Given the description of an element on the screen output the (x, y) to click on. 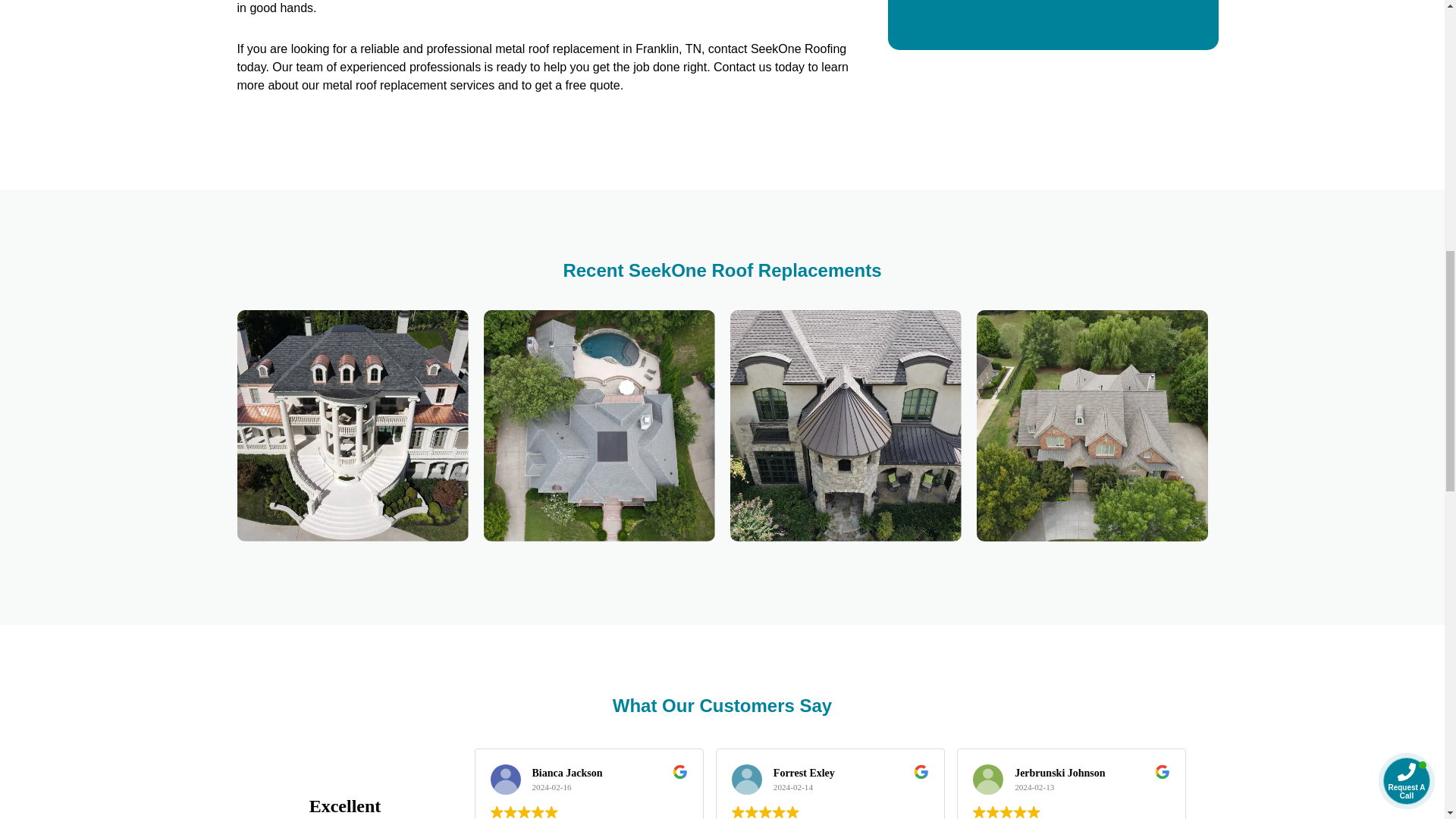
0A6FFC58-7922-44B7-8A34-1F56543E36F9 (844, 425)
default (1092, 425)
default (598, 425)
